Given the description of an element on the screen output the (x, y) to click on. 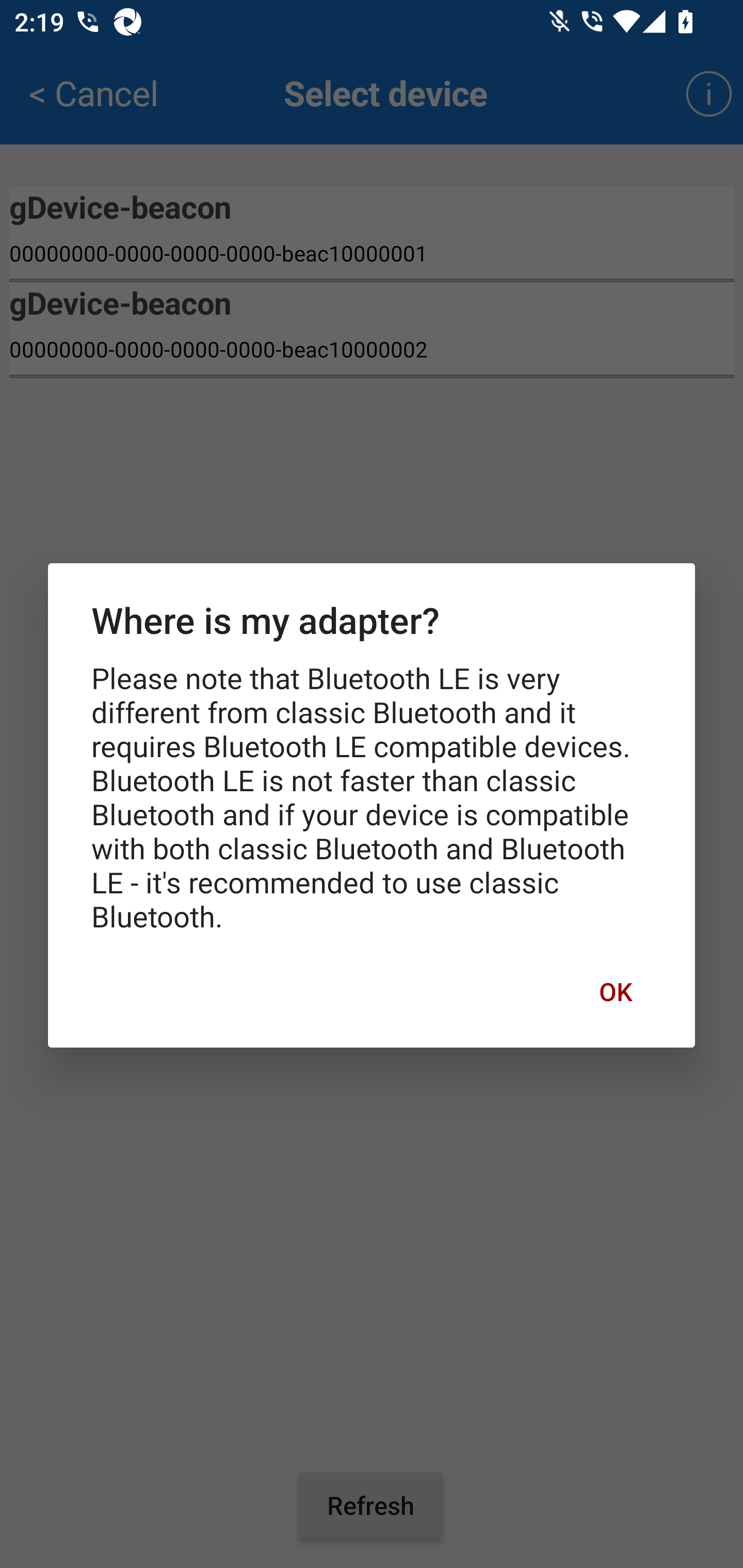
OK (615, 990)
